Given the description of an element on the screen output the (x, y) to click on. 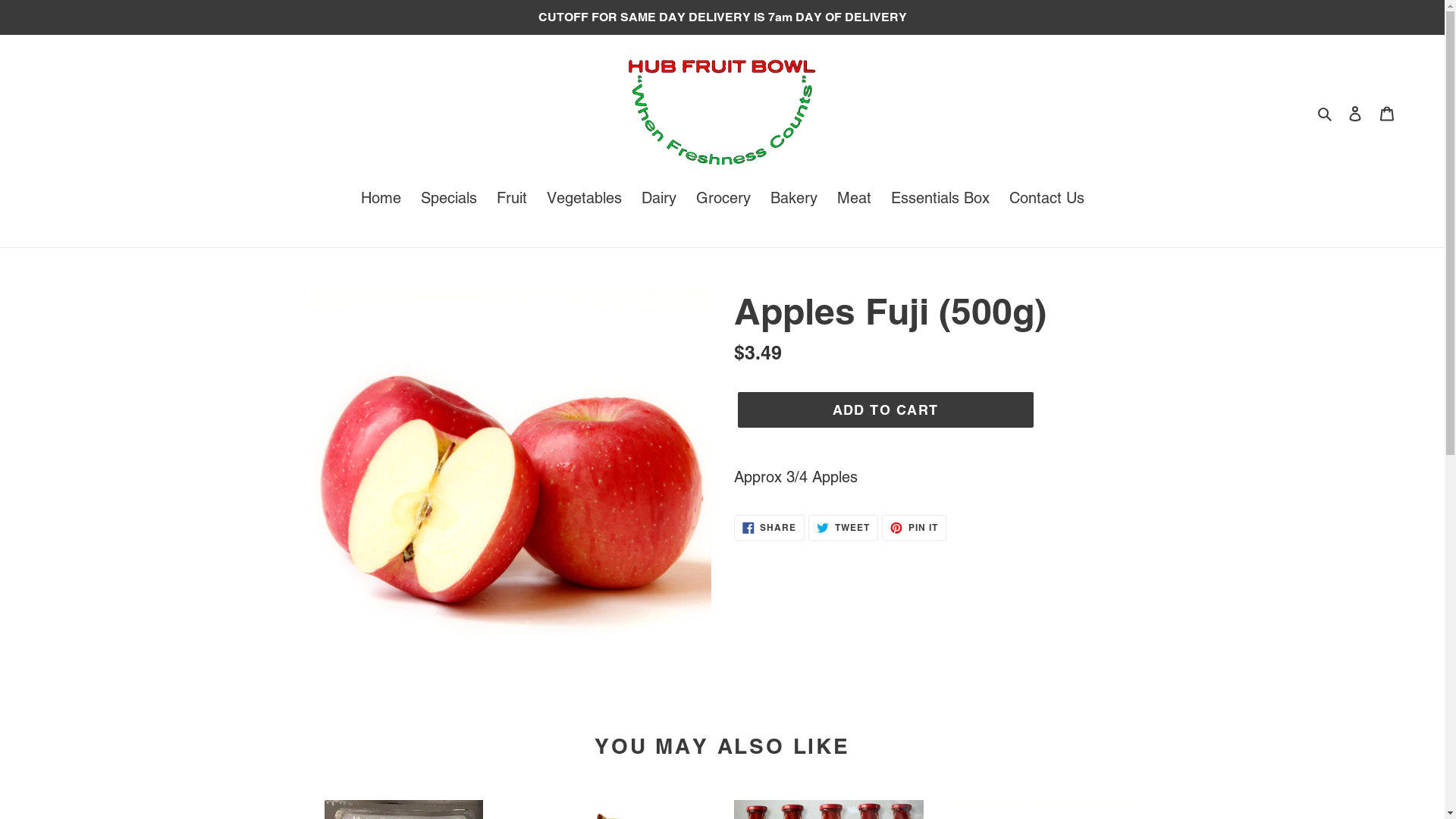
ADD TO CART Element type: text (884, 409)
Contact Us Element type: text (1046, 198)
TWEET
TWEET ON TWITTER Element type: text (843, 527)
PIN IT
PIN ON PINTEREST Element type: text (913, 527)
Home Element type: text (380, 198)
Meat Element type: text (853, 198)
Grocery Element type: text (723, 198)
Essentials Box Element type: text (939, 198)
Dairy Element type: text (658, 198)
Search Element type: text (1325, 112)
Vegetables Element type: text (583, 198)
Bakery Element type: text (793, 198)
Cart Element type: text (1386, 112)
Fruit Element type: text (510, 198)
Specials Element type: text (447, 198)
SHARE
SHARE ON FACEBOOK Element type: text (769, 527)
Log in Element type: text (1355, 112)
